Given the description of an element on the screen output the (x, y) to click on. 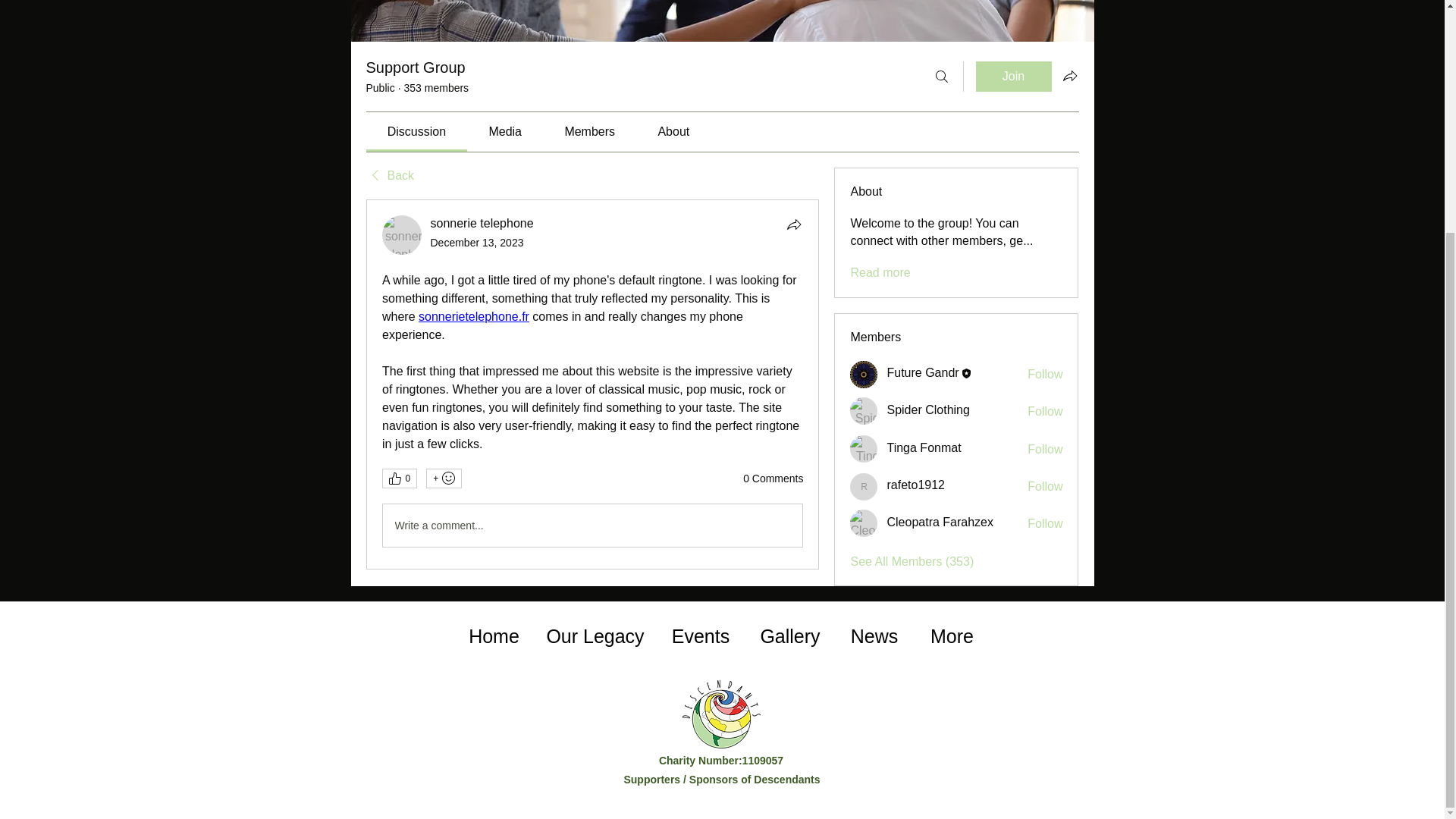
0 Comments (772, 478)
sonnerie telephone (401, 234)
Future Gandr (922, 372)
Follow (1044, 486)
Spider Clothing (863, 411)
December 13, 2023 (477, 242)
Follow (1044, 411)
Read more (880, 272)
Join (1013, 76)
Write a comment... (591, 525)
Our Legacy (595, 636)
Back (389, 175)
Cleopatra Farahzex (863, 523)
Home (493, 636)
